Given the description of an element on the screen output the (x, y) to click on. 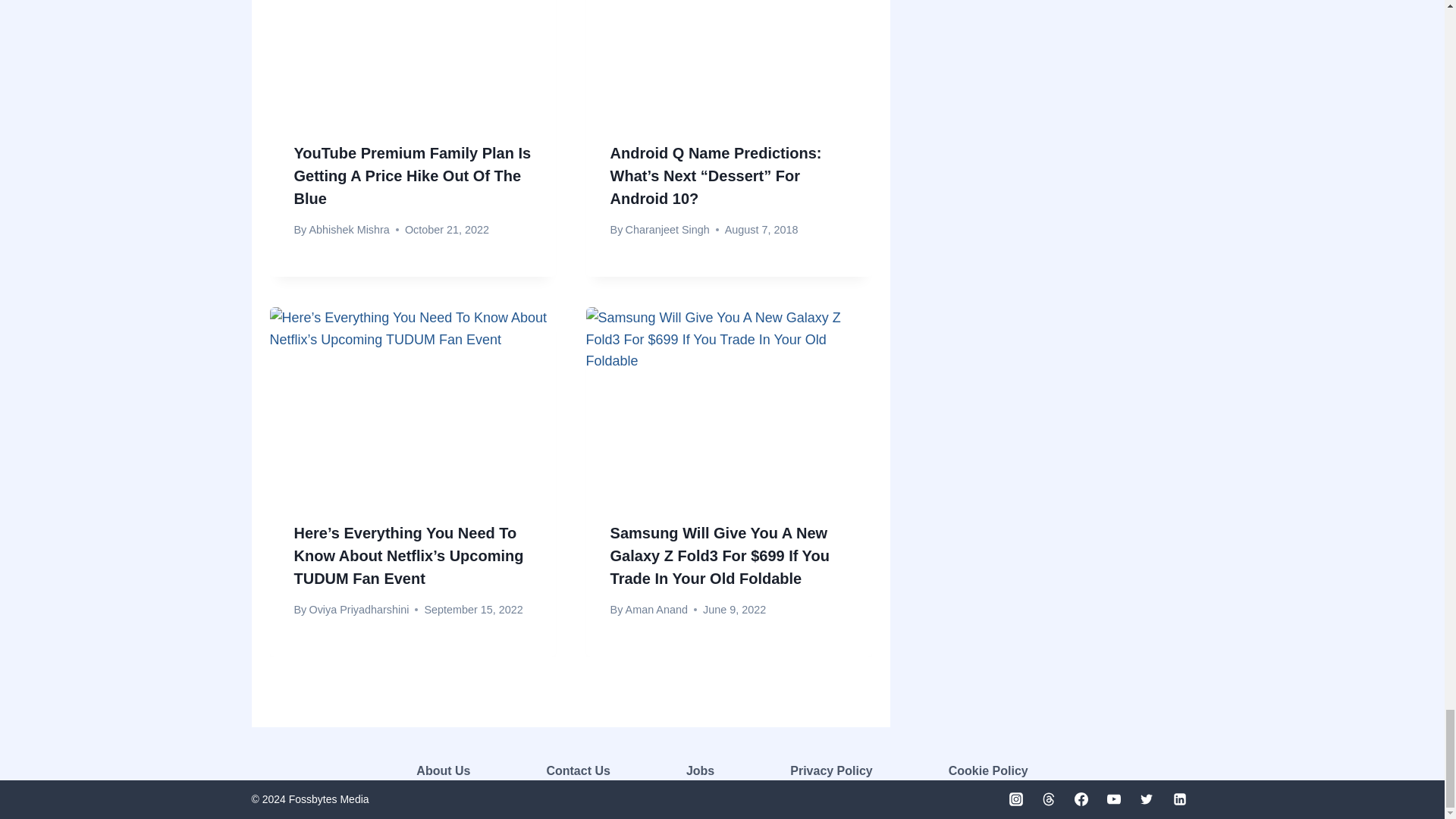
Priye Rai (330, 343)
